Given the description of an element on the screen output the (x, y) to click on. 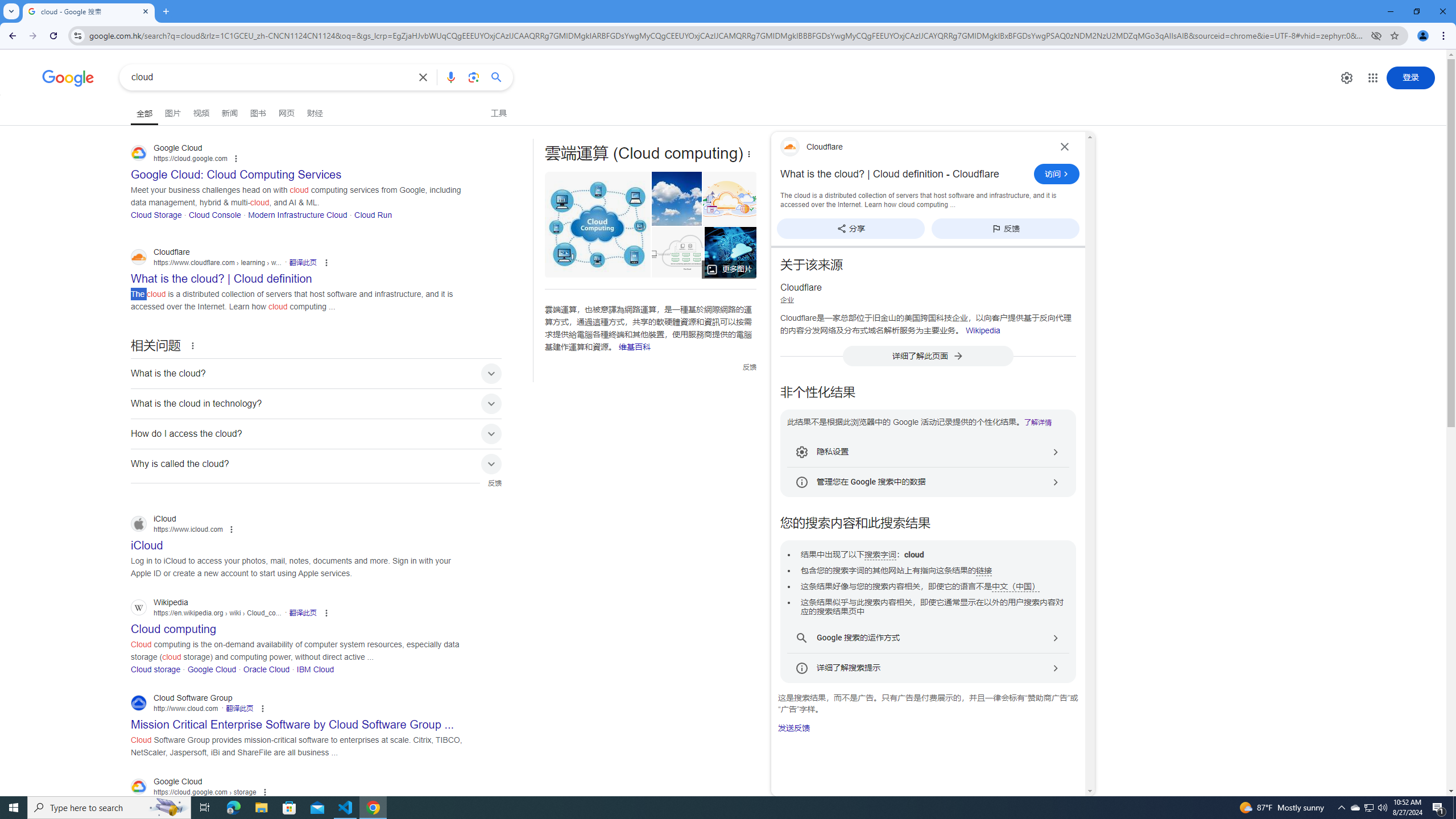
Wikipedia (982, 330)
How do I access the cloud? (316, 433)
Cloud Run (373, 214)
